Given the description of an element on the screen output the (x, y) to click on. 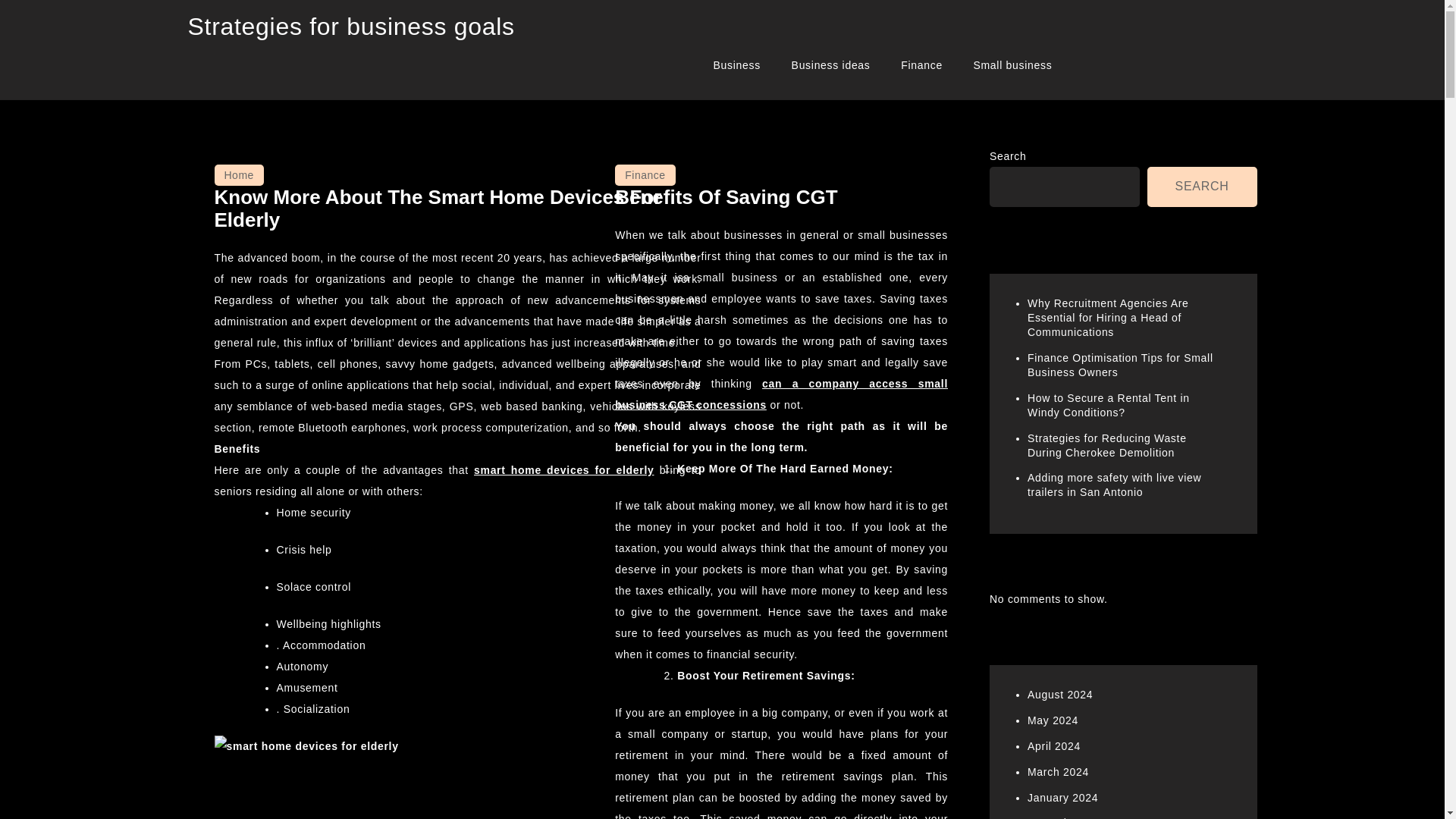
Finance (921, 64)
Home (238, 174)
Know More About The Smart Home Devices For Elderly (437, 207)
can a company access small business CGT concessions (780, 394)
Finance (644, 174)
Business (737, 64)
Business ideas (830, 64)
smart home devices for elderly (563, 469)
Benefits Of Saving CGT (725, 196)
Small business (1012, 64)
Strategies for business goals (351, 26)
